Given the description of an element on the screen output the (x, y) to click on. 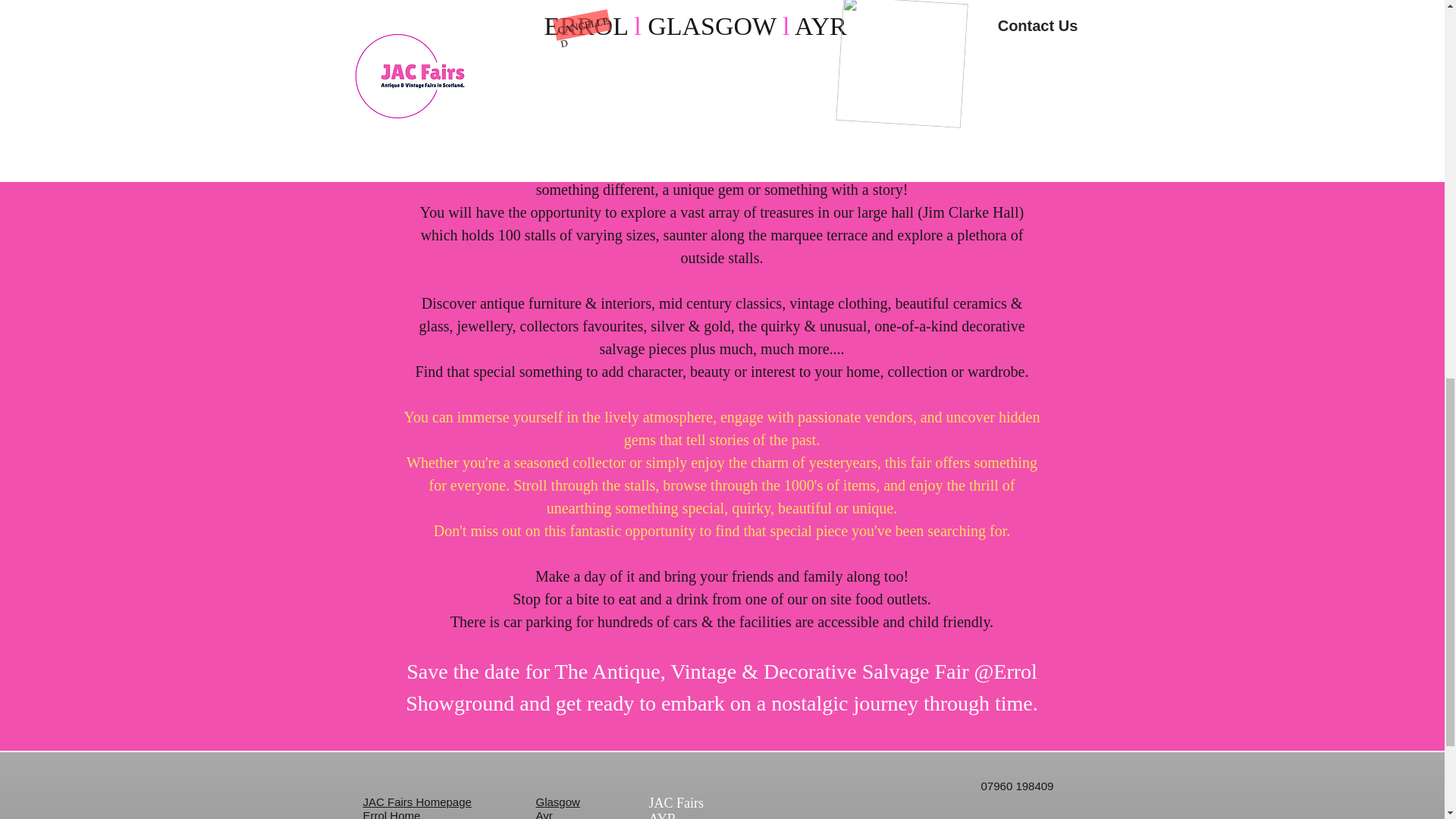
Glasgow (557, 801)
JAC Fairs Homepage (416, 801)
Errol Home (391, 814)
Ayr (543, 814)
